Given the description of an element on the screen output the (x, y) to click on. 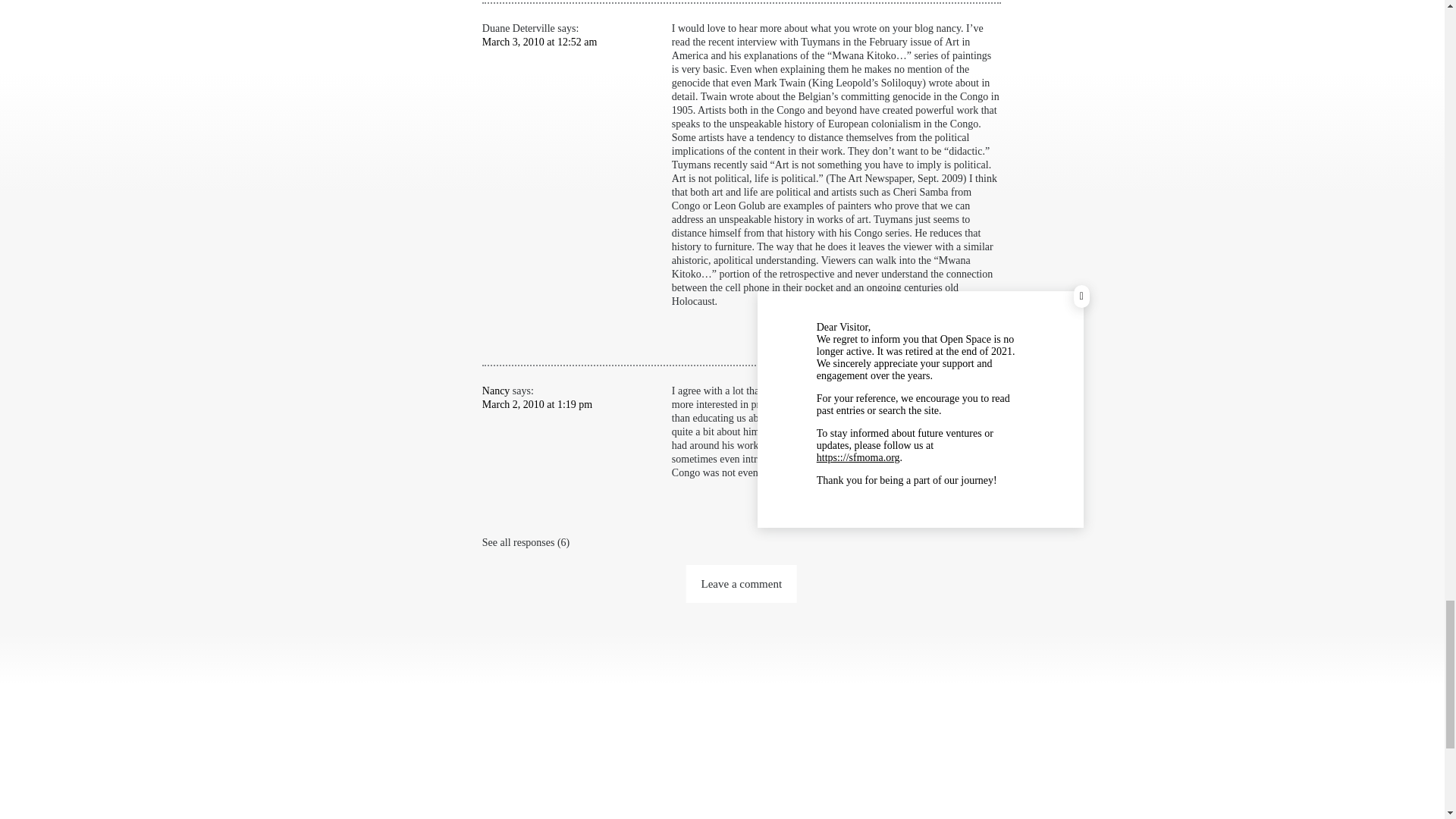
March 3, 2010 at 12:52 am (538, 41)
Nancy (496, 390)
March 2, 2010 at 1:19 pm (536, 404)
